Given the description of an element on the screen output the (x, y) to click on. 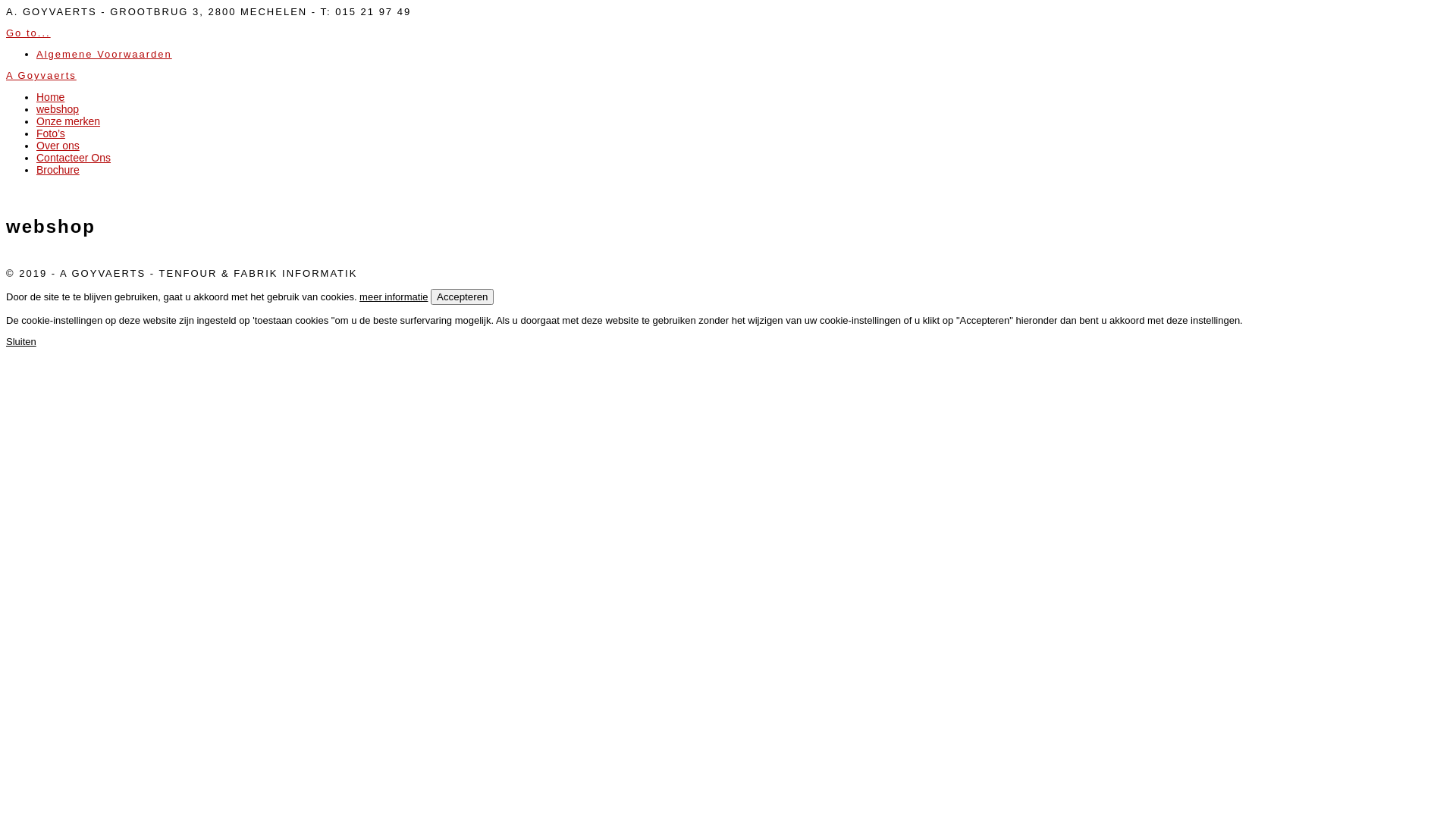
Contacteer Ons Element type: text (73, 157)
Home Element type: text (50, 97)
webshop Element type: text (57, 109)
Over ons Element type: text (57, 145)
Sluiten Element type: text (21, 341)
Algemene Voorwaarden Element type: text (104, 53)
A Goyvaerts Element type: text (41, 75)
meer informatie Element type: text (393, 296)
Go to... Element type: text (28, 32)
Accepteren Element type: text (461, 296)
Brochure Element type: text (57, 169)
Onze merken Element type: text (68, 121)
